Given the description of an element on the screen output the (x, y) to click on. 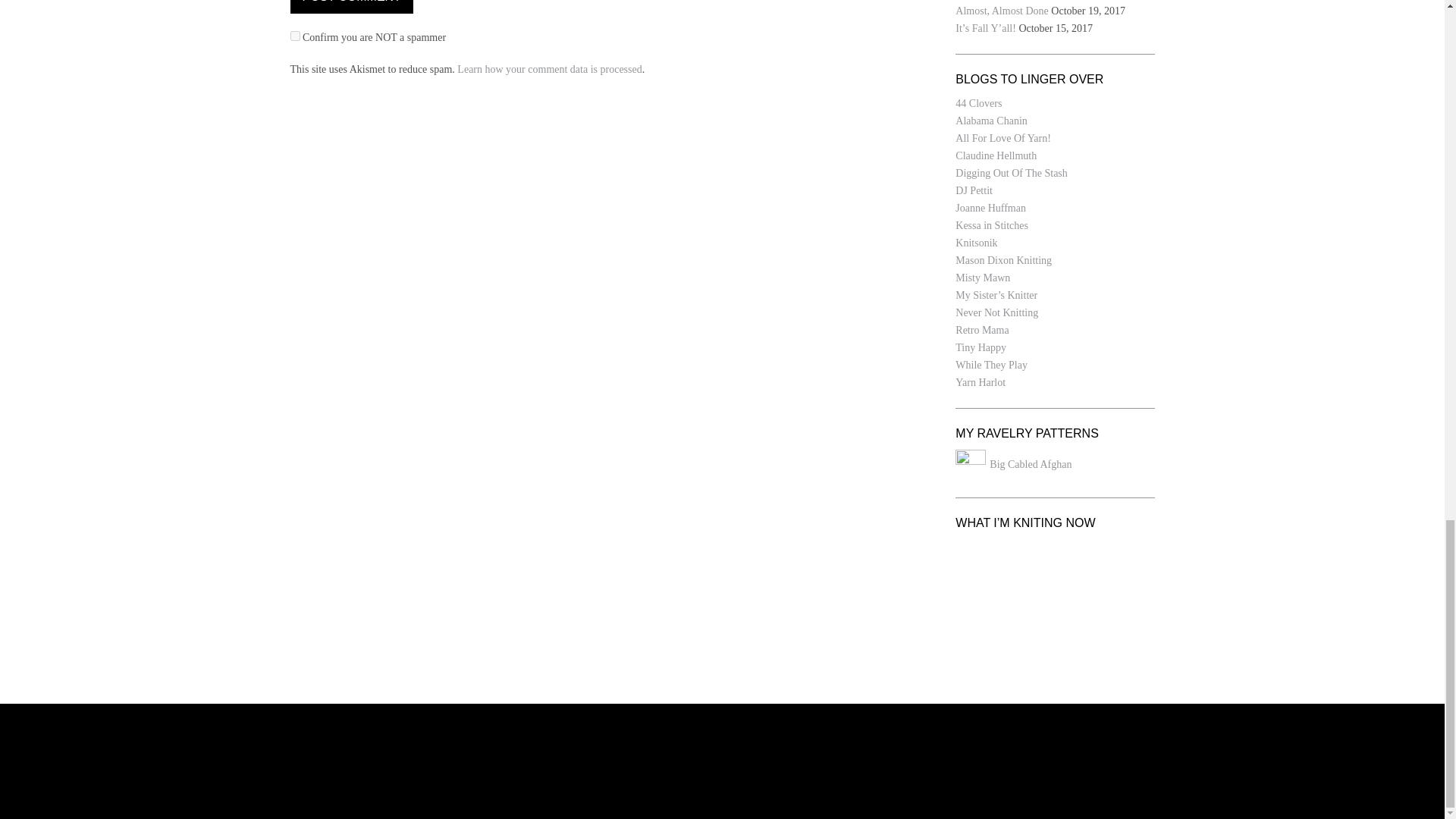
on (294, 35)
Post Comment (350, 6)
Learn how your comment data is processed (549, 69)
Post Comment (350, 6)
